Given the description of an element on the screen output the (x, y) to click on. 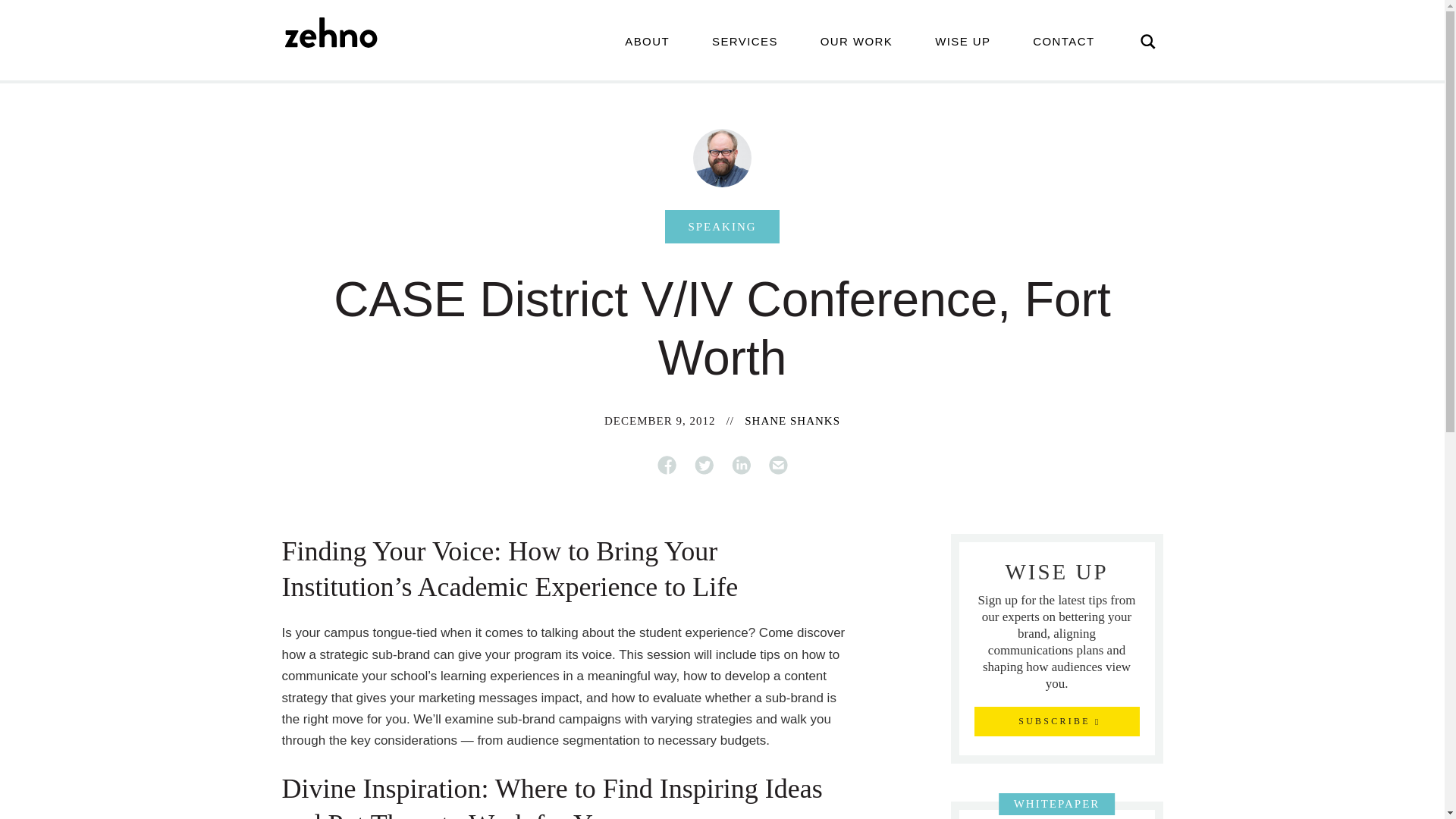
WISE UP (962, 41)
SHANE SHANKS (792, 420)
ABOUT (647, 41)
SERVICES (744, 41)
CONTACT (1063, 41)
OUR WORK (856, 41)
